Given the description of an element on the screen output the (x, y) to click on. 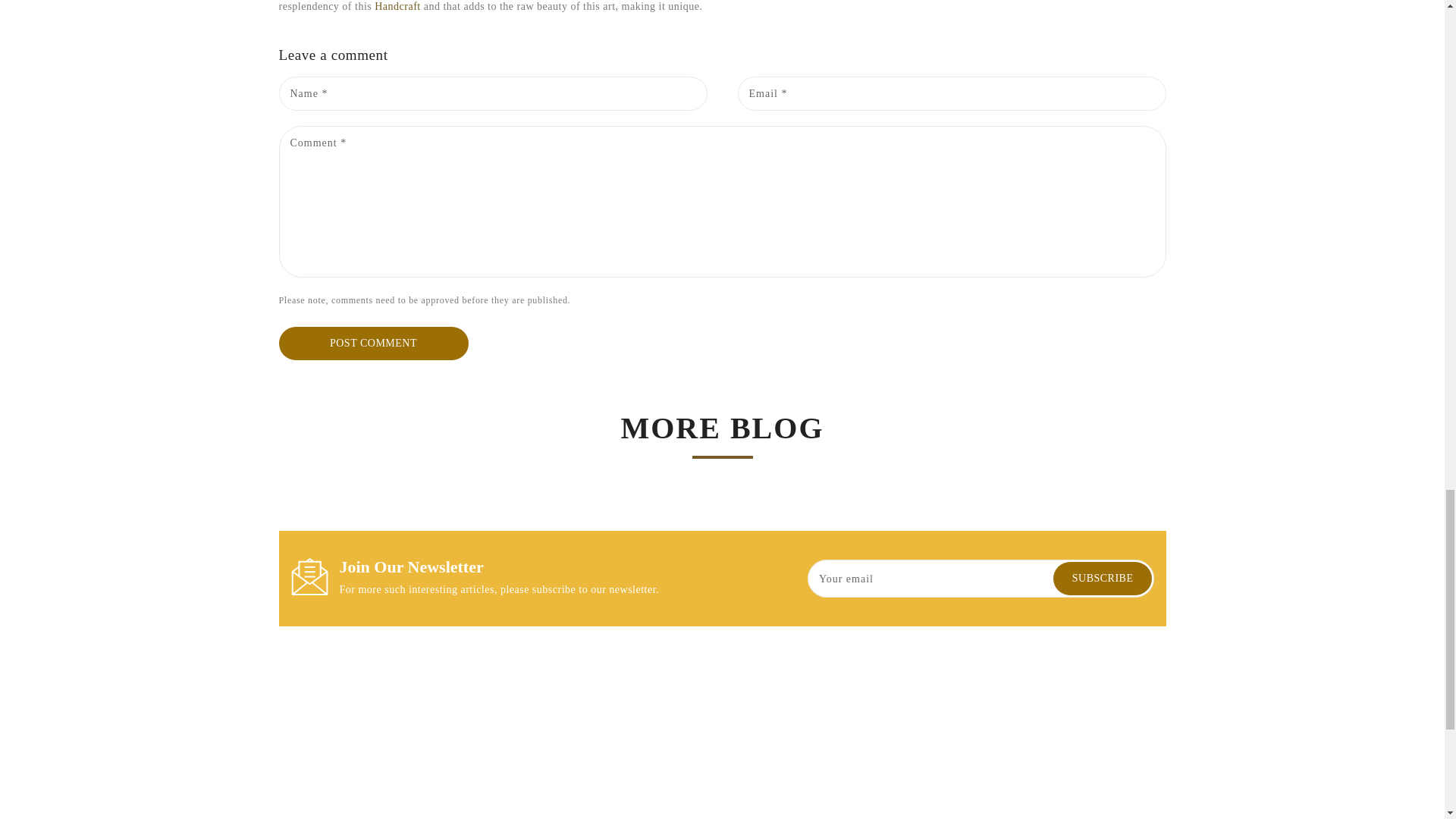
Post comment (373, 343)
